Given the description of an element on the screen output the (x, y) to click on. 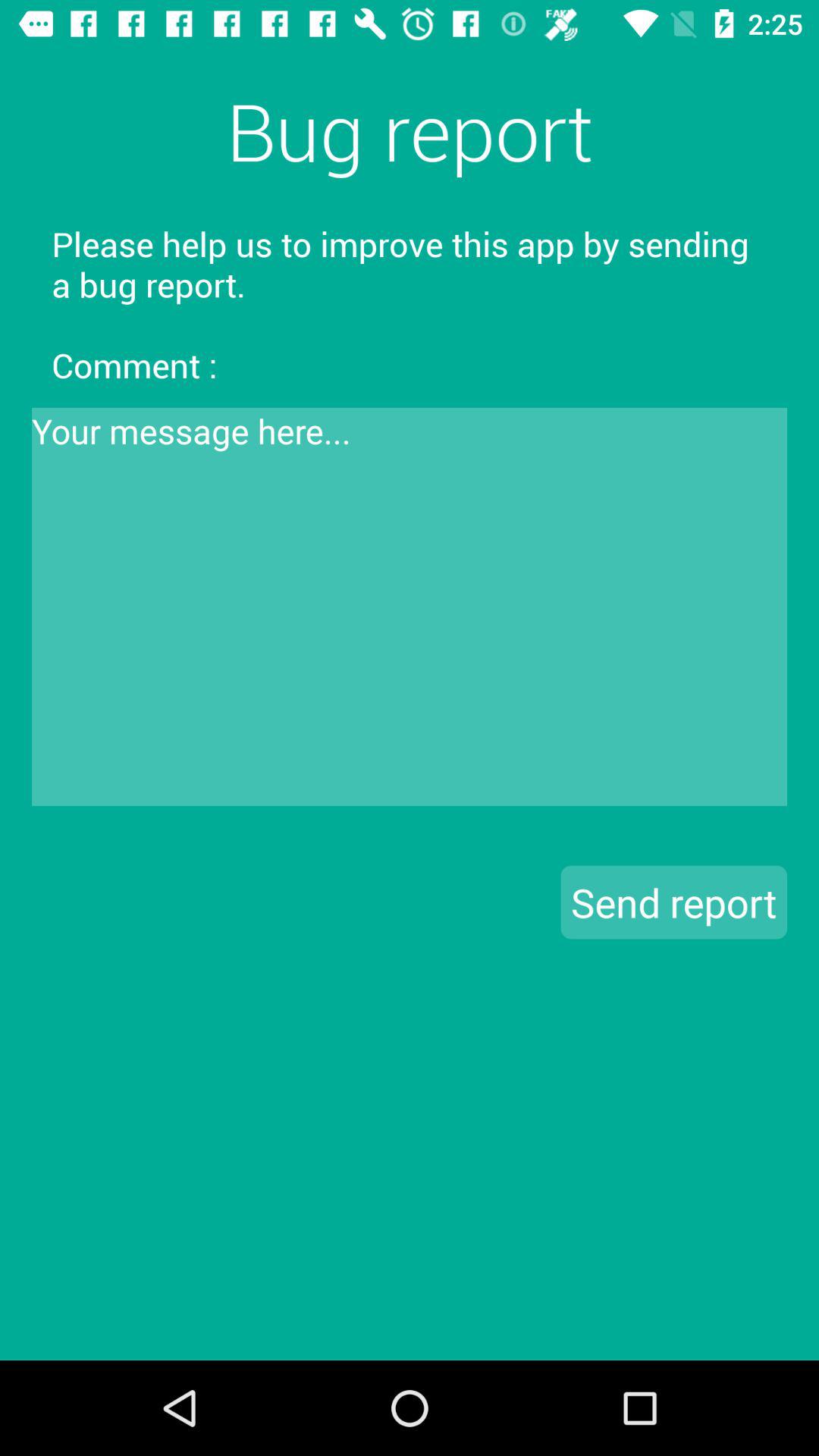
flip to the send report button (673, 902)
